Given the description of an element on the screen output the (x, y) to click on. 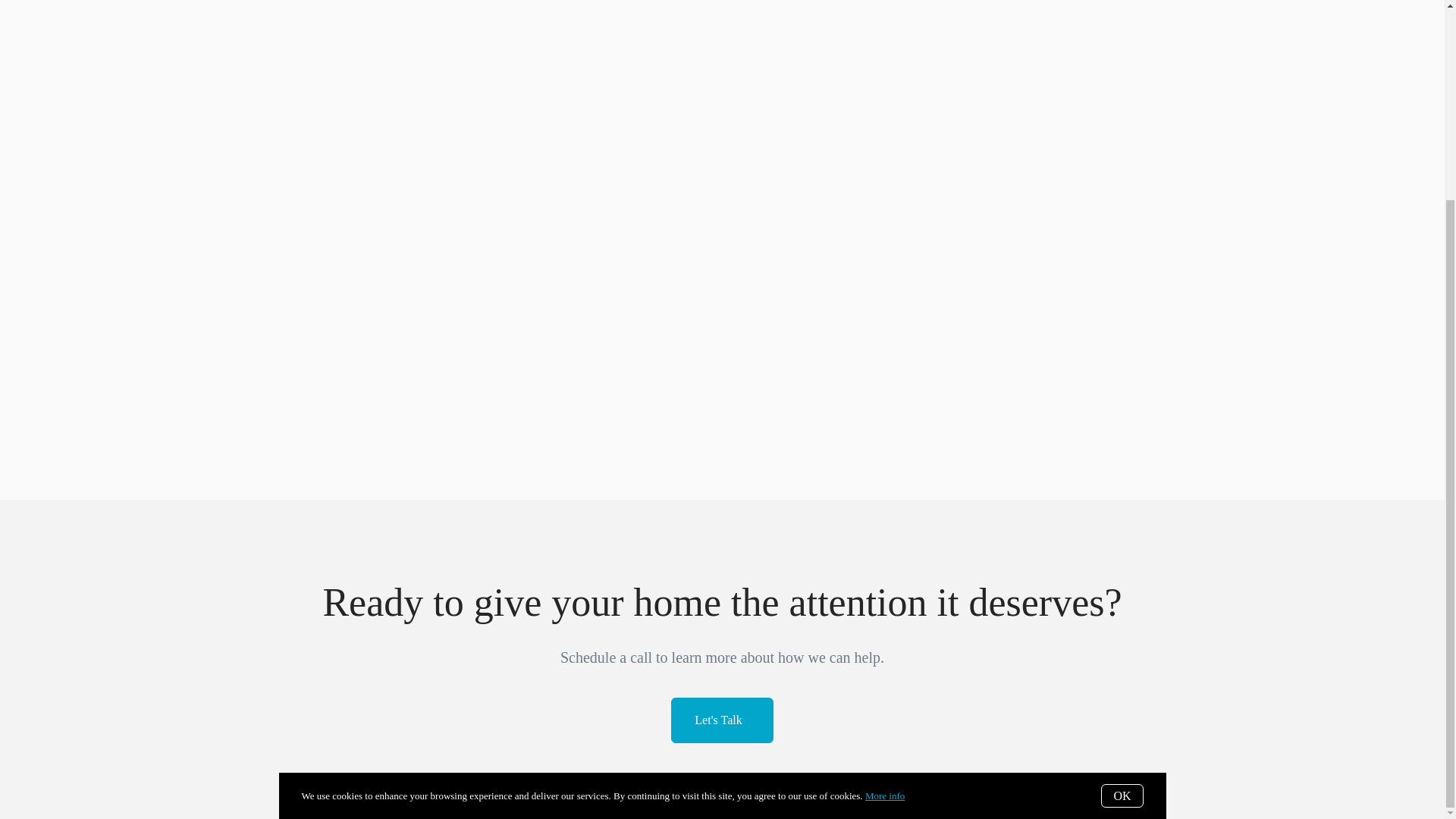
Let's Talk (722, 719)
OK (1121, 540)
More info (884, 541)
